Given the description of an element on the screen output the (x, y) to click on. 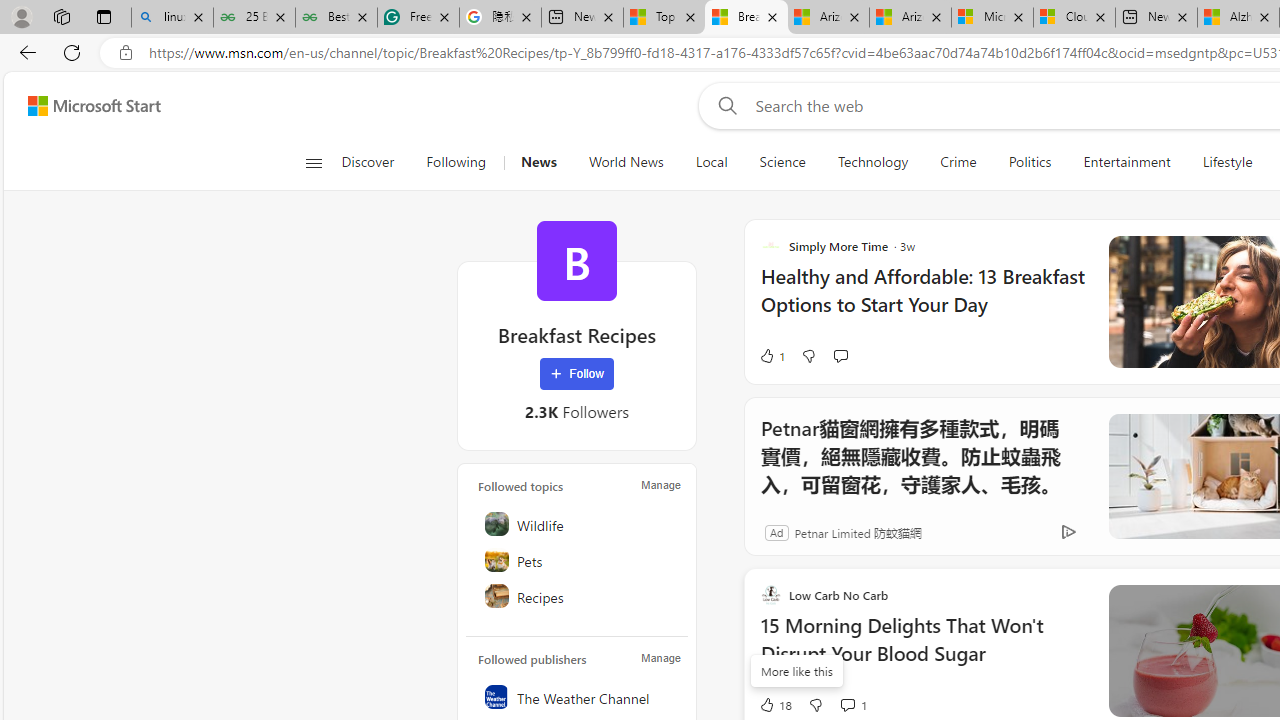
Skip to footer (82, 105)
Breakfast Recipes - MSN (746, 17)
Manage (660, 657)
Politics (1029, 162)
25 Basic Linux Commands For Beginners - GeeksforGeeks (254, 17)
Web search (724, 105)
Local (711, 162)
Class: button-glyph (313, 162)
Discover (367, 162)
Science (781, 162)
18 Like (775, 704)
Wildlife (578, 524)
Pets (578, 560)
